Given the description of an element on the screen output the (x, y) to click on. 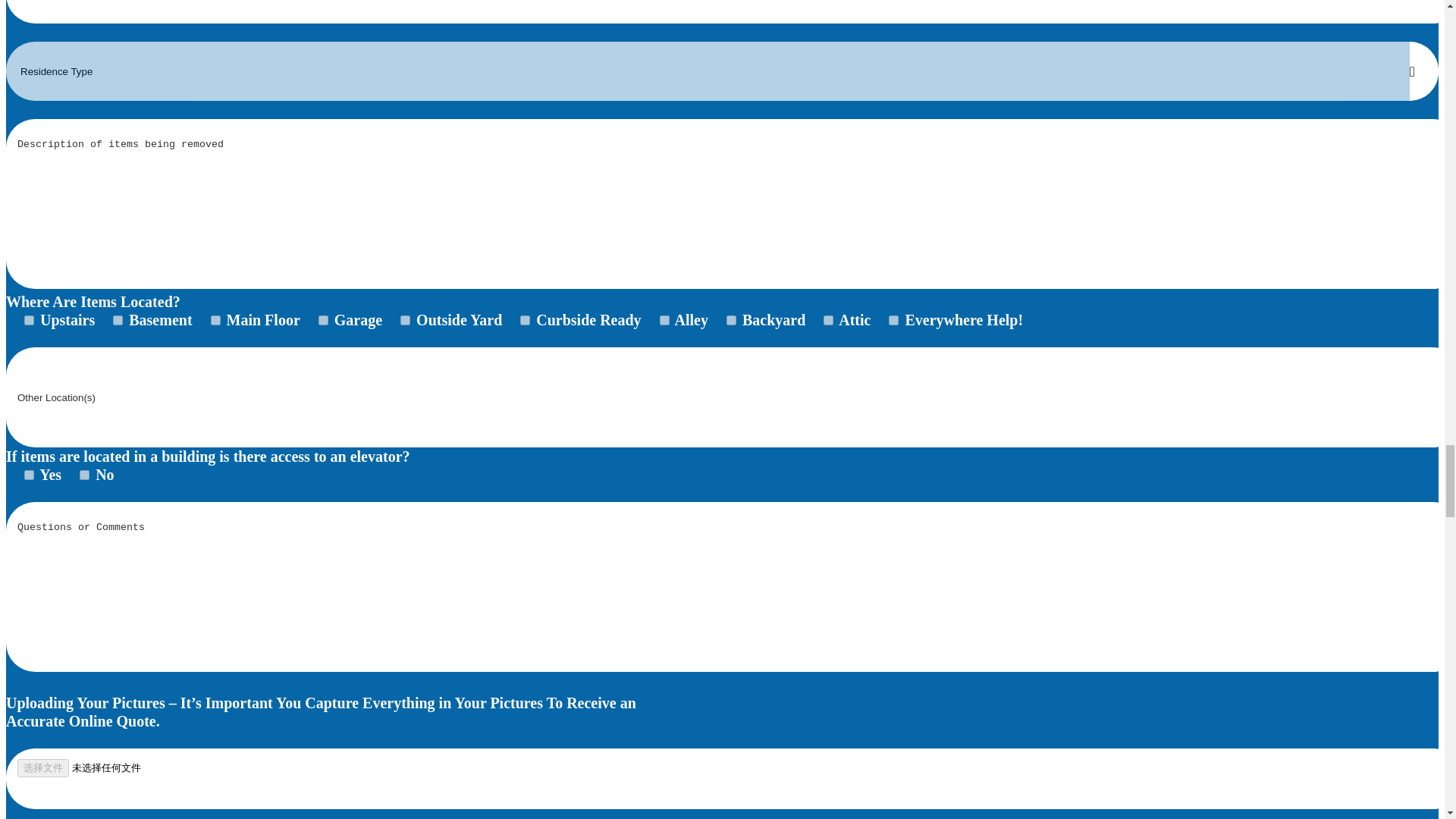
Backyard (731, 320)
No (84, 474)
Upstairs (28, 320)
Main Floor (216, 320)
Yes (28, 474)
Everywhere Help! (893, 320)
Curbside Ready (524, 320)
Outside Yard (405, 320)
Garage (323, 320)
Attic (828, 320)
Alley (664, 320)
Basement (117, 320)
